Given the description of an element on the screen output the (x, y) to click on. 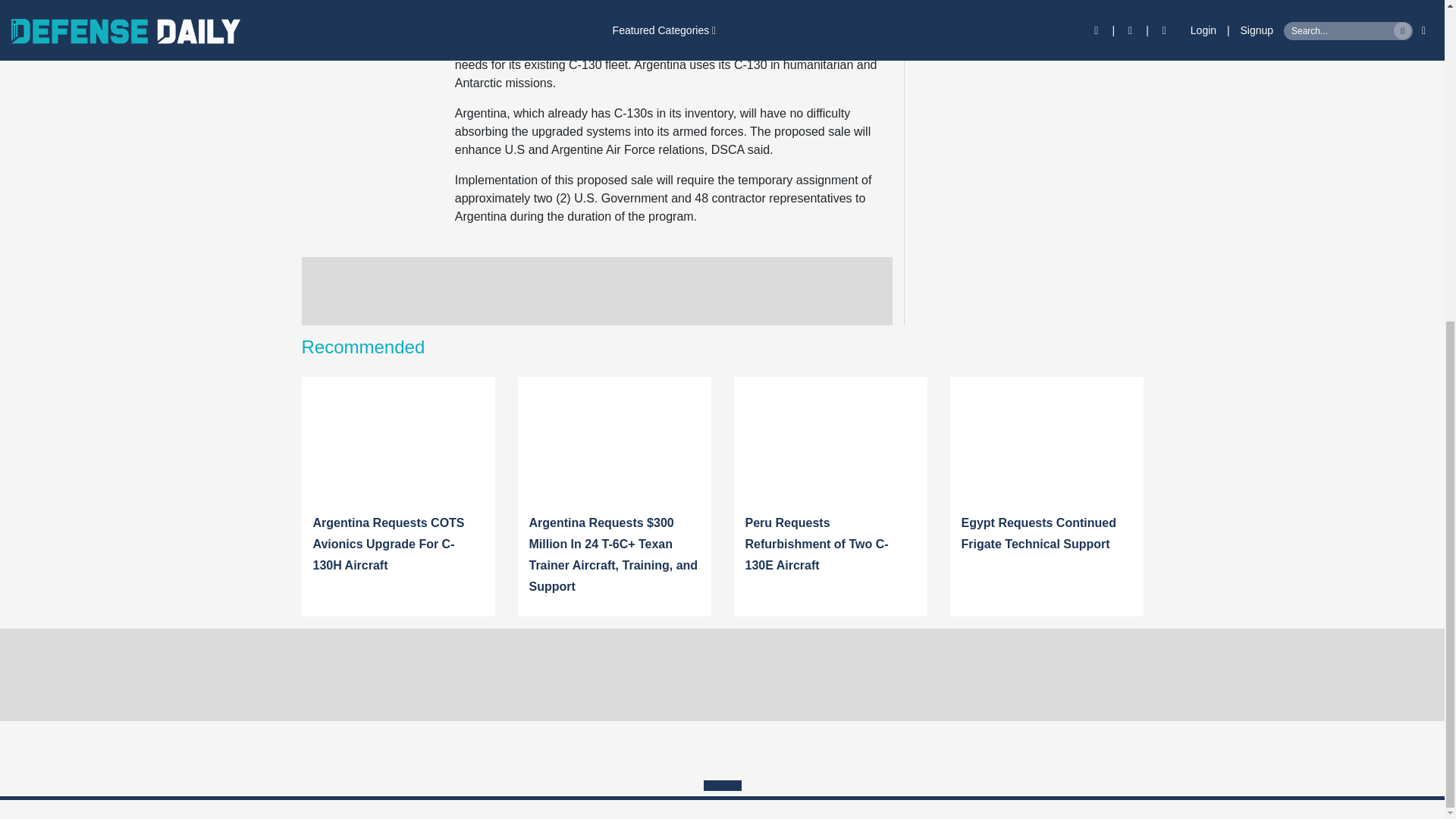
Argentina Requests COTS Avionics Upgrade For C-130H Aircraft (388, 543)
